Given the description of an element on the screen output the (x, y) to click on. 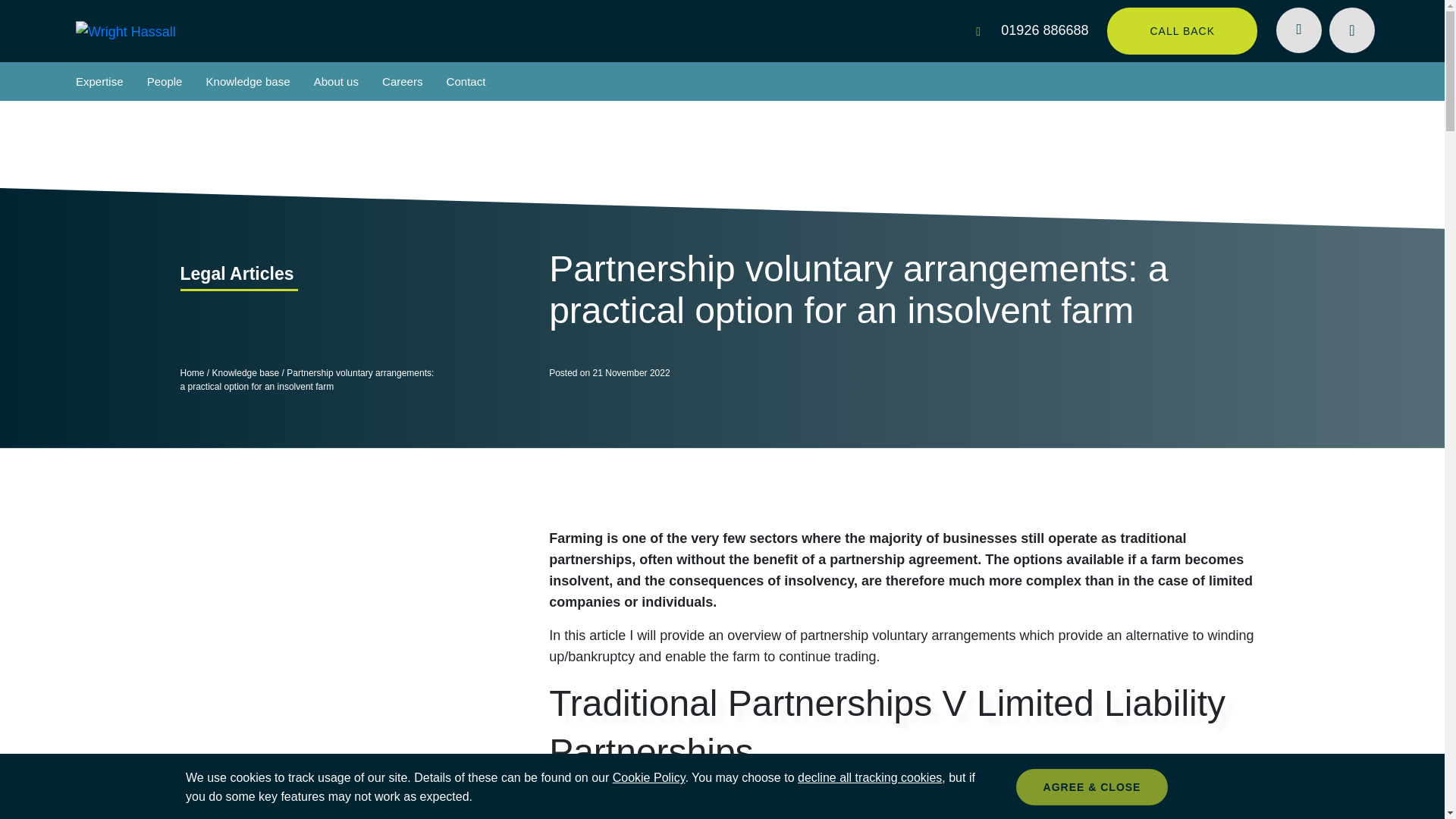
Privacy policy (648, 777)
Expertise (99, 81)
CALL BACK (1181, 30)
